Given the description of an element on the screen output the (x, y) to click on. 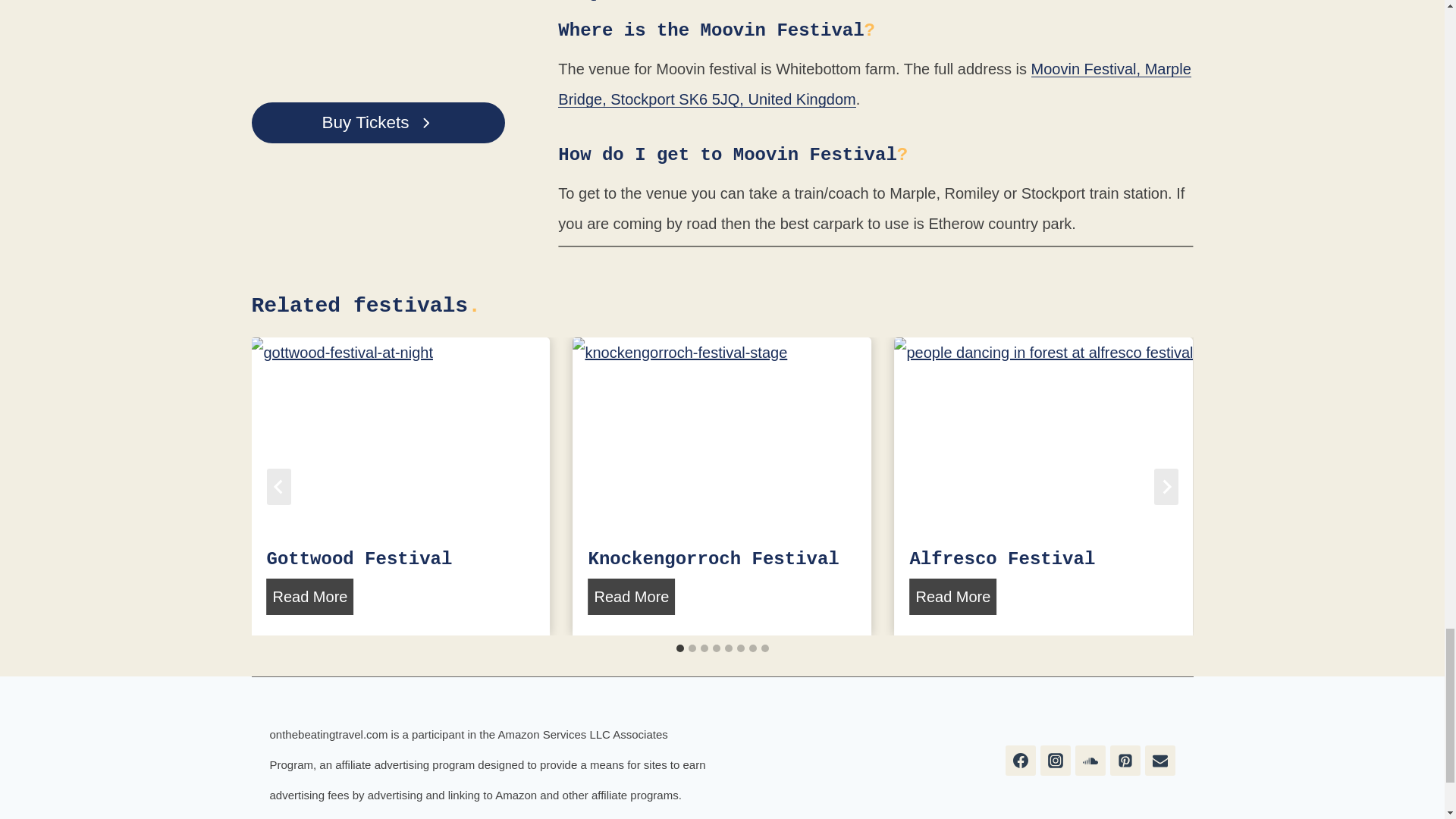
Gottwood Festival 1 (400, 437)
Knockengorroch Festival 2 (721, 437)
Alfresco Festival 3 (1042, 437)
